Given the description of an element on the screen output the (x, y) to click on. 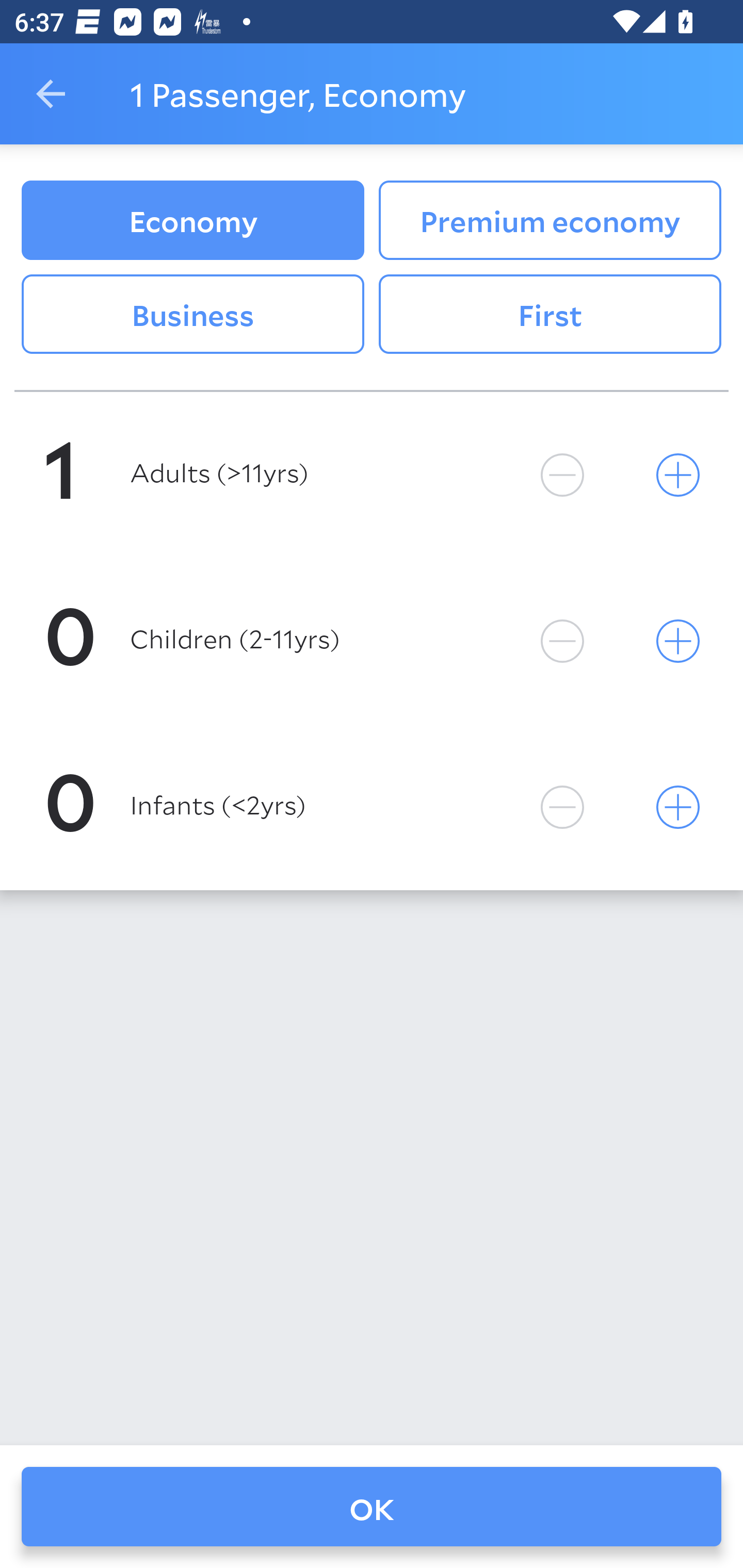
Navigate up (50, 93)
Economy (192, 220)
Premium economy (549, 220)
Business (192, 314)
First (549, 314)
OK (371, 1506)
